Given the description of an element on the screen output the (x, y) to click on. 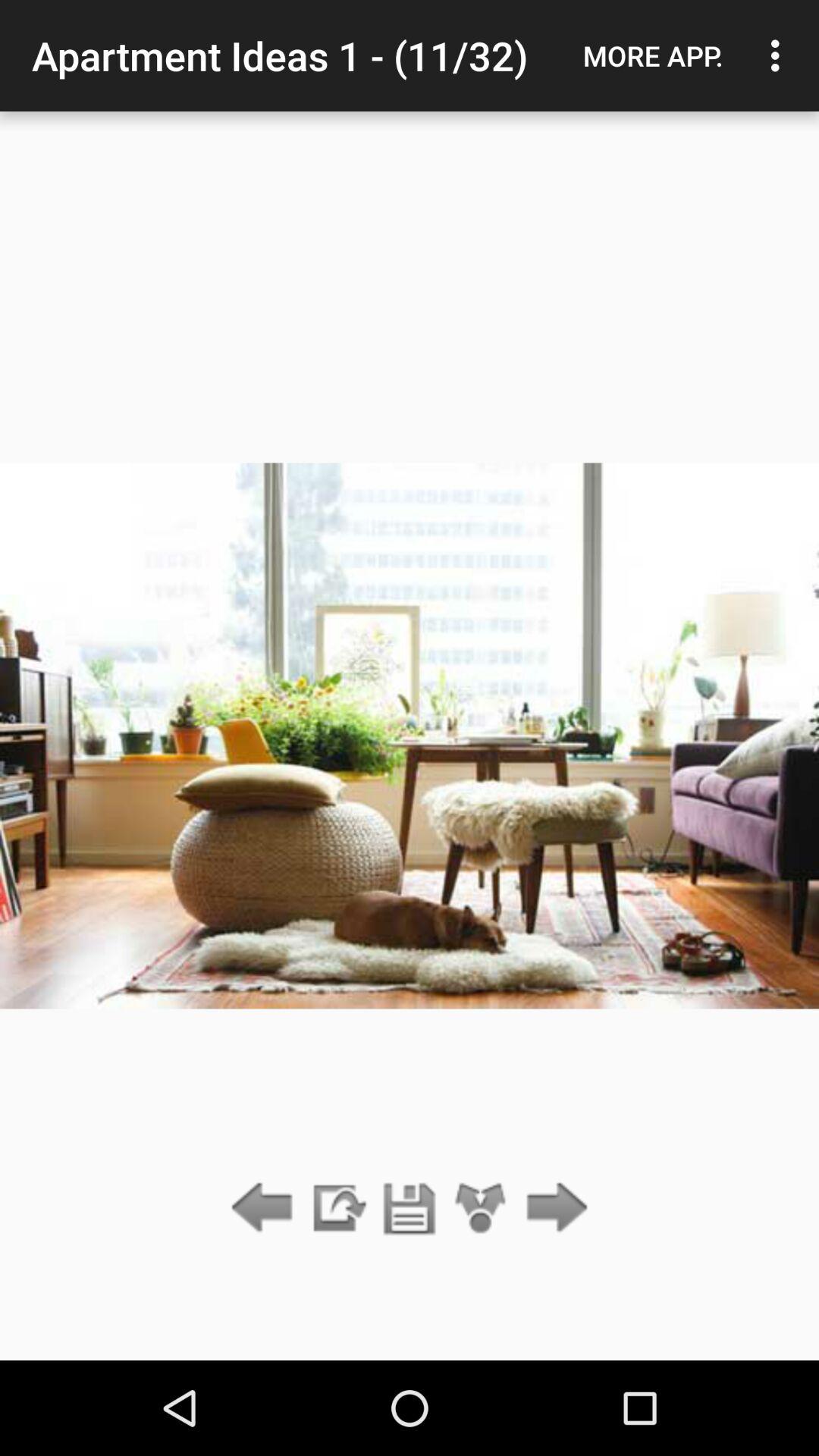
turn on icon to the right of the more app. item (779, 55)
